Given the description of an element on the screen output the (x, y) to click on. 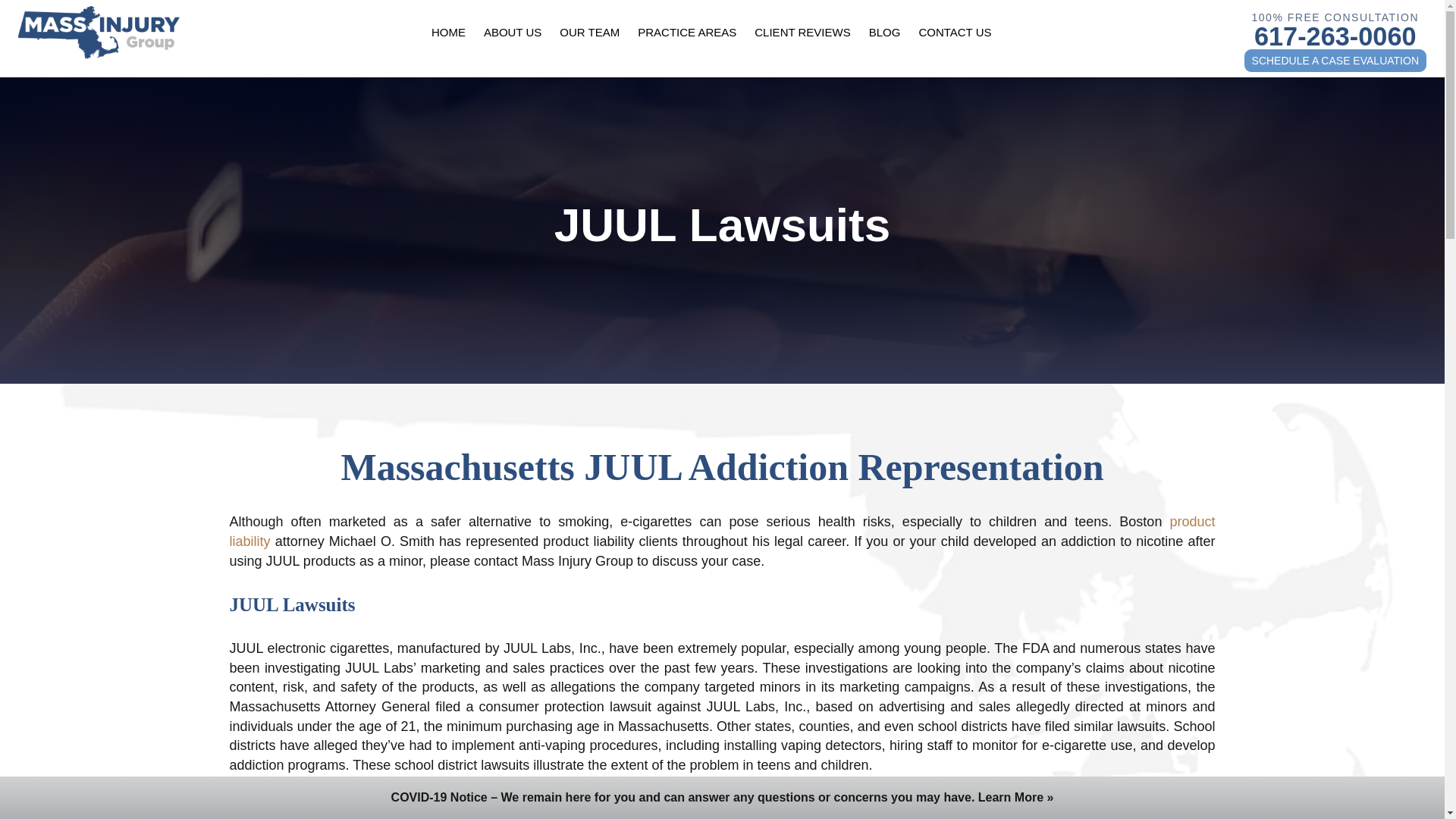
OUR TEAM (589, 31)
SCHEDULE A CASE EVALUATION (1335, 60)
ABOUT US (512, 31)
617-263-0060 (1334, 35)
PRACTICE AREAS (686, 31)
